Given the description of an element on the screen output the (x, y) to click on. 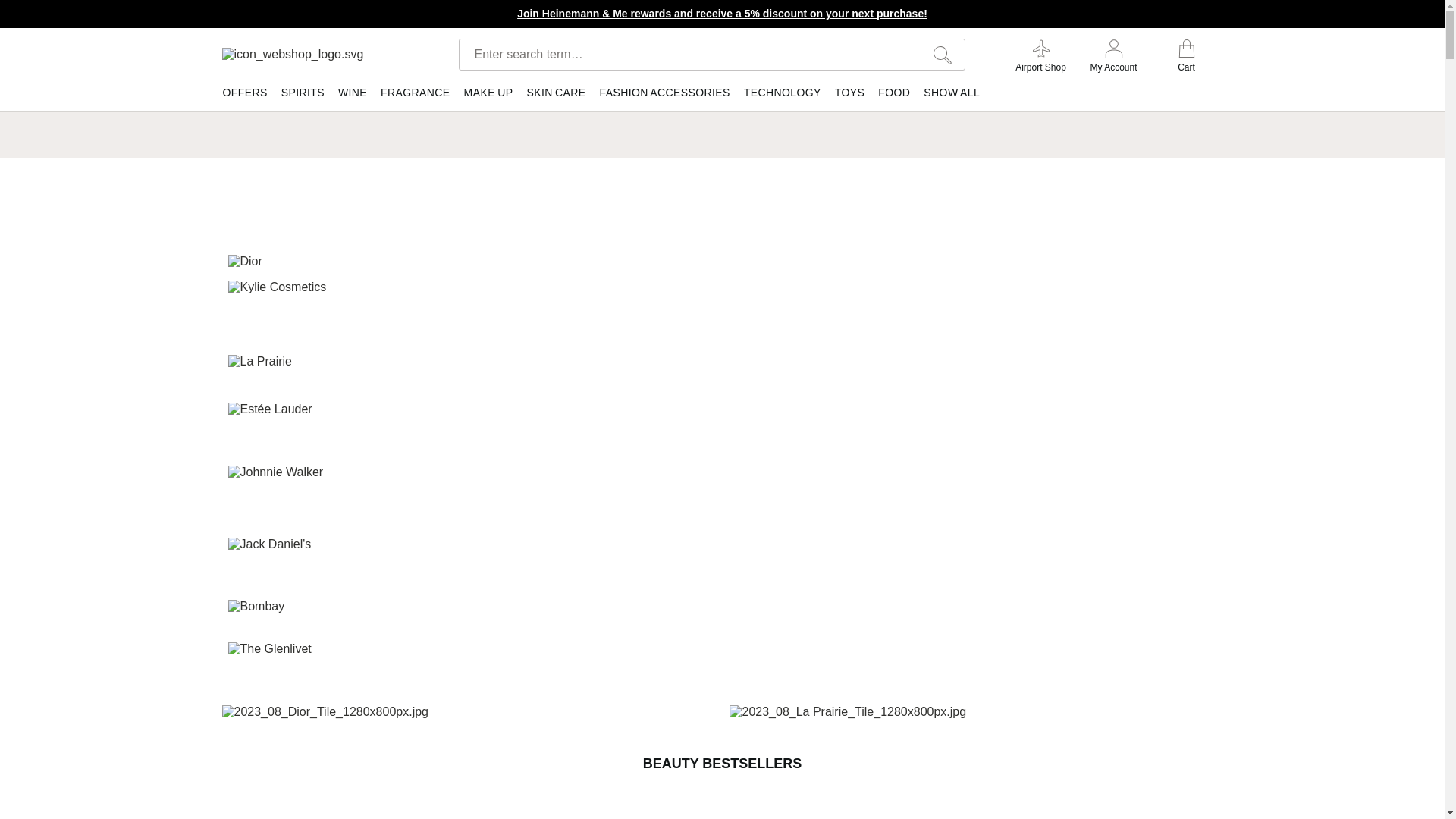
MAKE UP Element type: text (488, 96)
SPIRITS Element type: text (302, 96)
icon_webshop_logo.svg Element type: hover (321, 54)
TOYS Element type: text (849, 96)
SKIN CARE Element type: text (555, 96)
FASHION ACCESSORIES Element type: text (665, 96)
SHOW ALL Element type: text (951, 96)
TECHNOLOGY Element type: text (782, 96)
WINE Element type: text (352, 96)
FRAGRANCE Element type: text (415, 96)
Cart Element type: text (1185, 55)
Airport Shop Element type: text (1040, 55)
FOOD Element type: text (893, 96)
My Account Element type: text (1112, 55)
OFFERS Element type: text (247, 96)
